Given the description of an element on the screen output the (x, y) to click on. 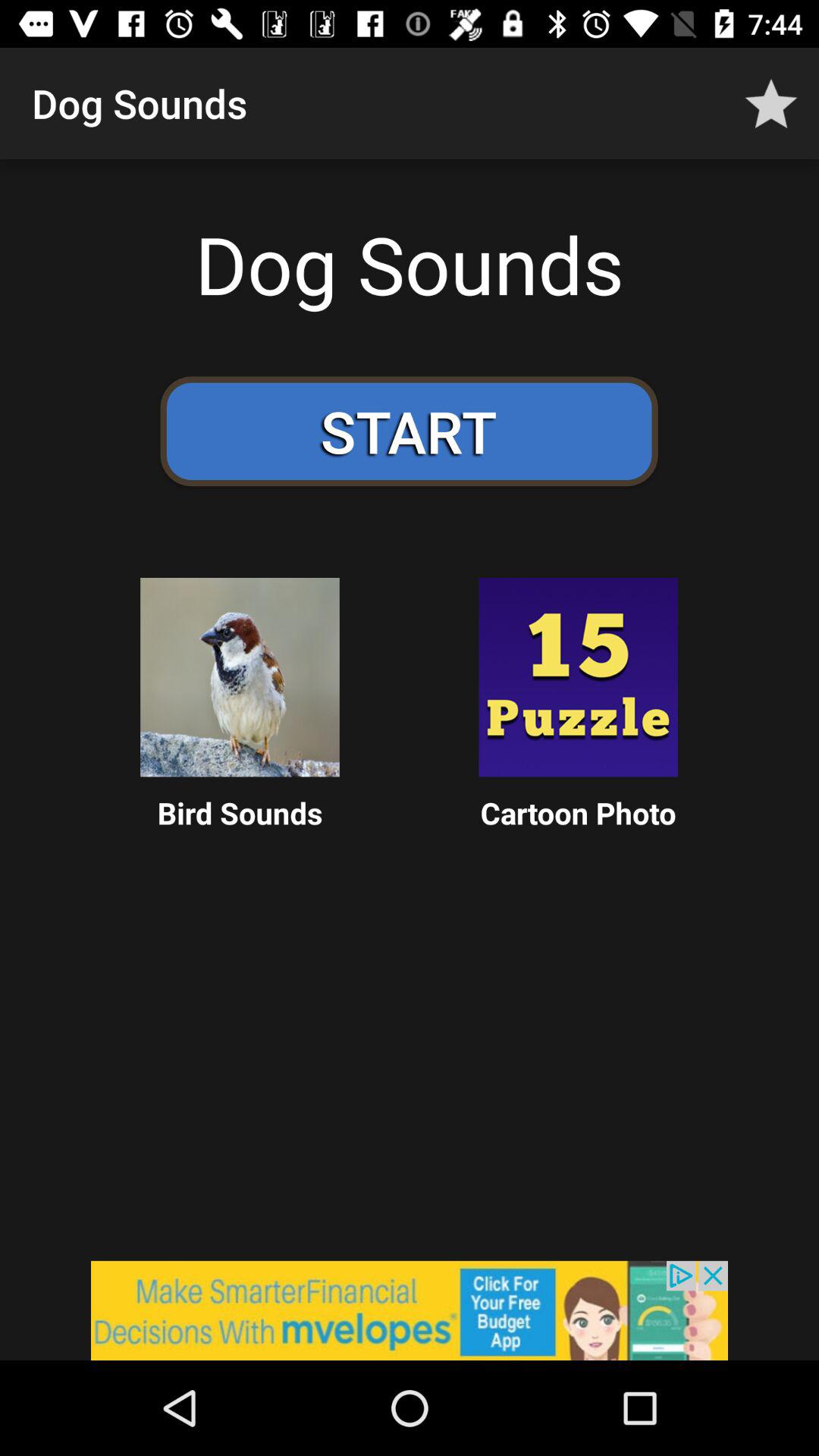
select the box (239, 676)
